Given the description of an element on the screen output the (x, y) to click on. 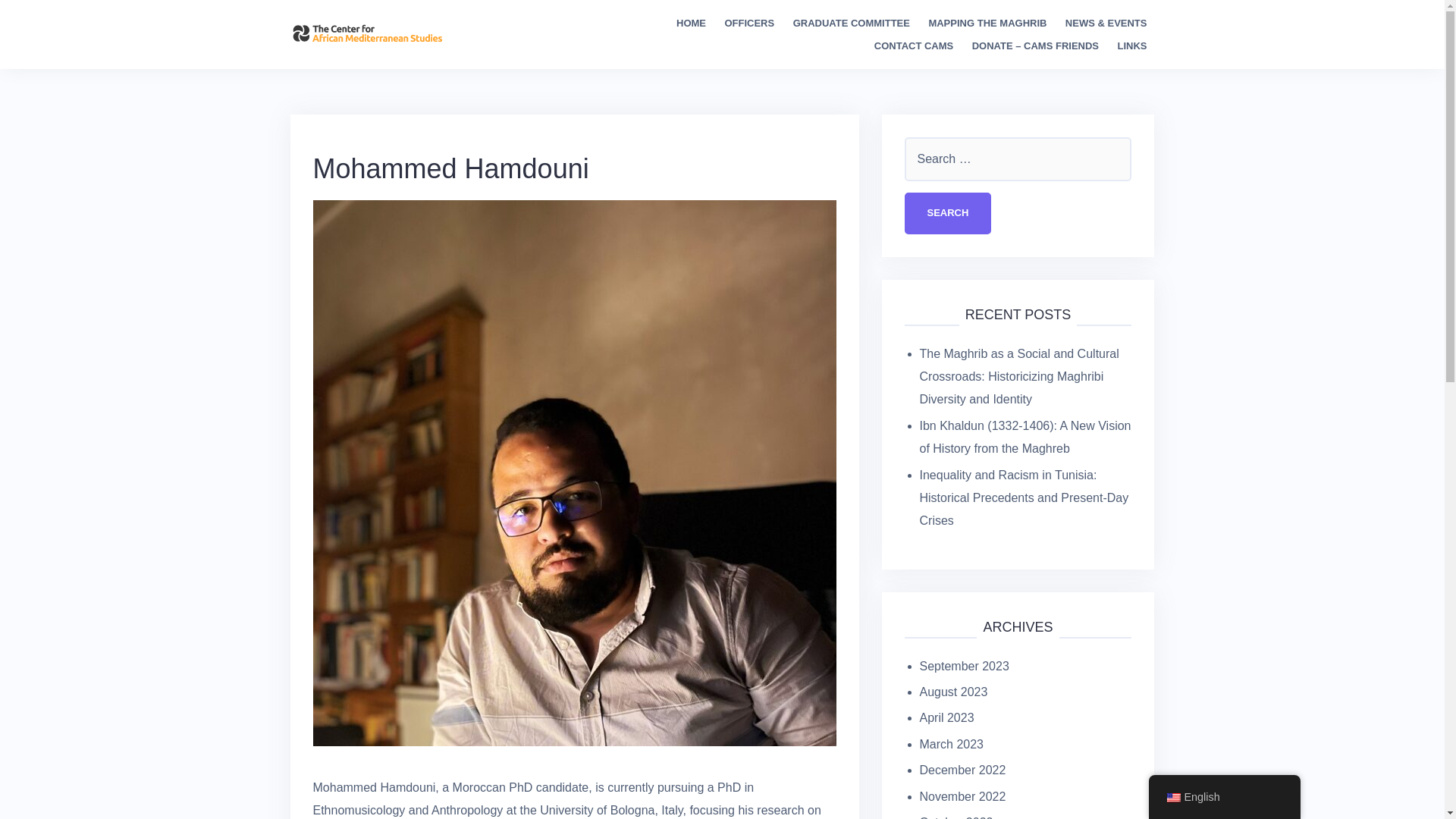
April 2023 (946, 717)
October 2022 (955, 817)
Search (947, 213)
Mohammed Hamdouni (574, 472)
Search (947, 213)
English (1172, 797)
November 2022 (962, 796)
Search (947, 213)
March 2023 (951, 744)
December 2022 (962, 769)
LINKS (1131, 46)
GRADUATE COMMITTEE (851, 23)
OFFICERS (748, 23)
CONTACT CAMS (914, 46)
